Given the description of an element on the screen output the (x, y) to click on. 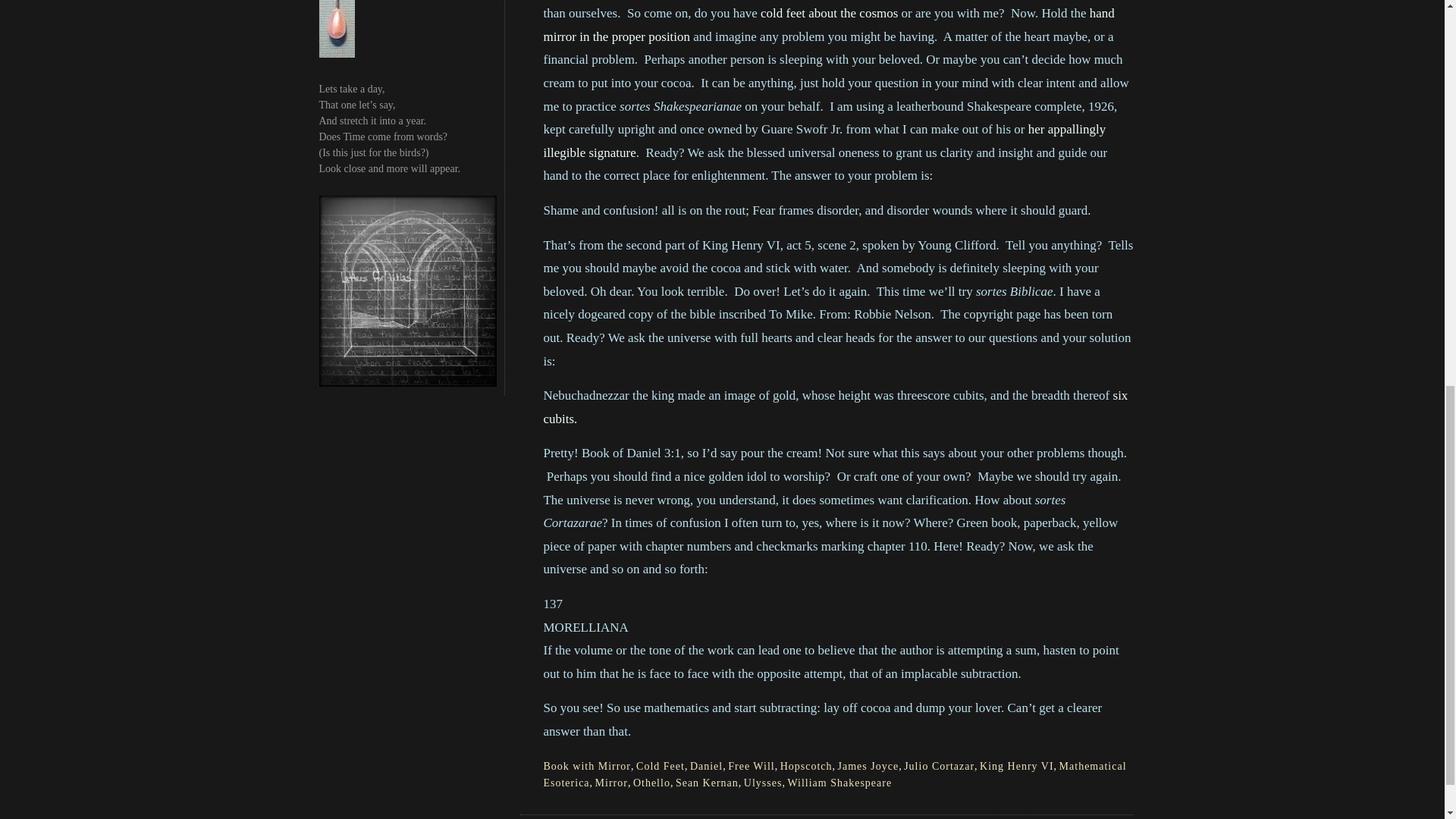
hand mirror in the proper position (828, 24)
James Joyce (868, 766)
Book with Mirror (586, 766)
Daniel (706, 766)
six cubits. (834, 406)
Cold Feet (660, 766)
cold feet about the cosmos (829, 12)
Hopscotch (806, 766)
Julio Cortazar (939, 766)
King Henry VI (1016, 766)
her appallingly illegible signature (824, 140)
Free Will (751, 766)
